Given the description of an element on the screen output the (x, y) to click on. 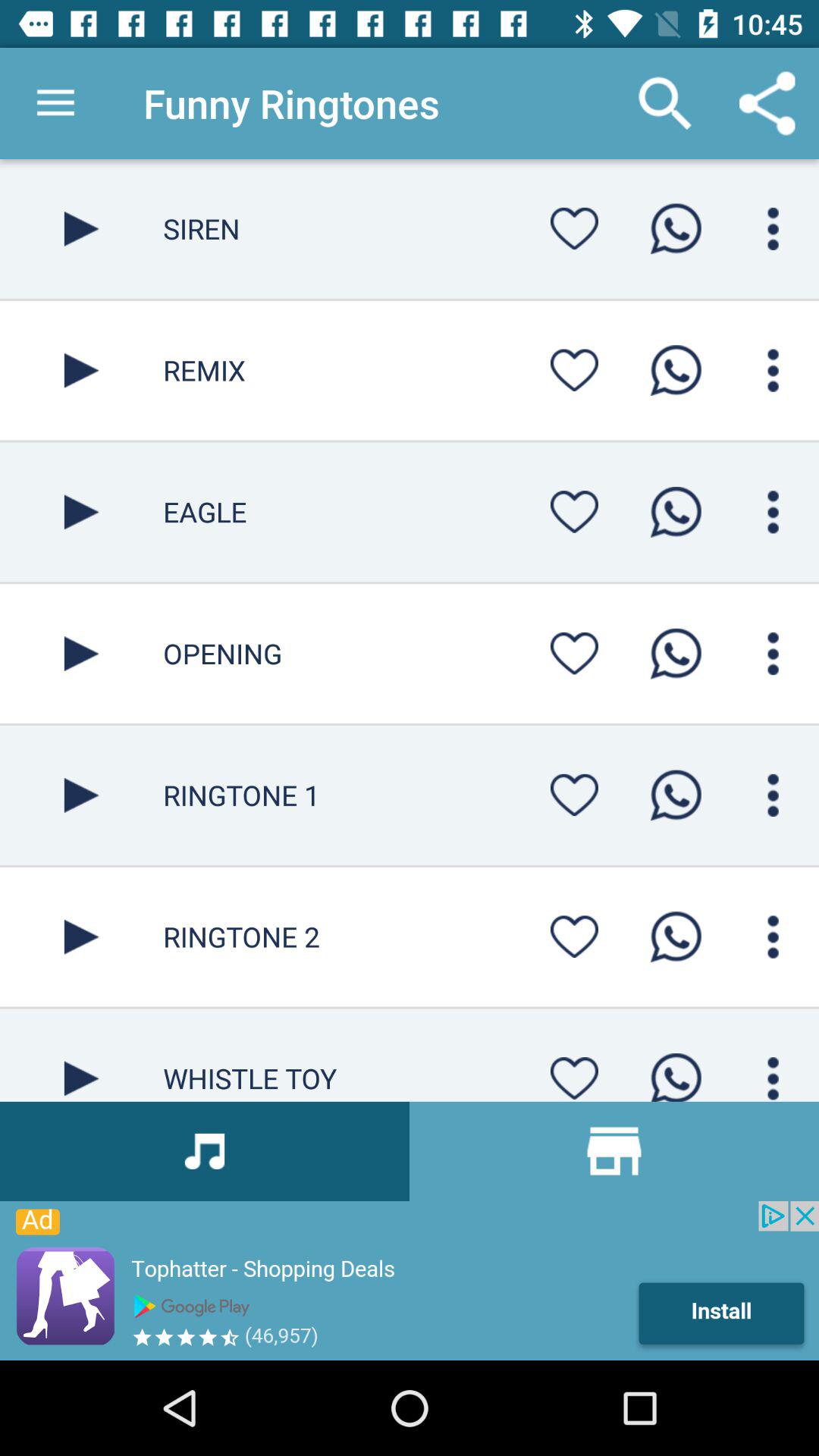
control settings (773, 1074)
